Given the description of an element on the screen output the (x, y) to click on. 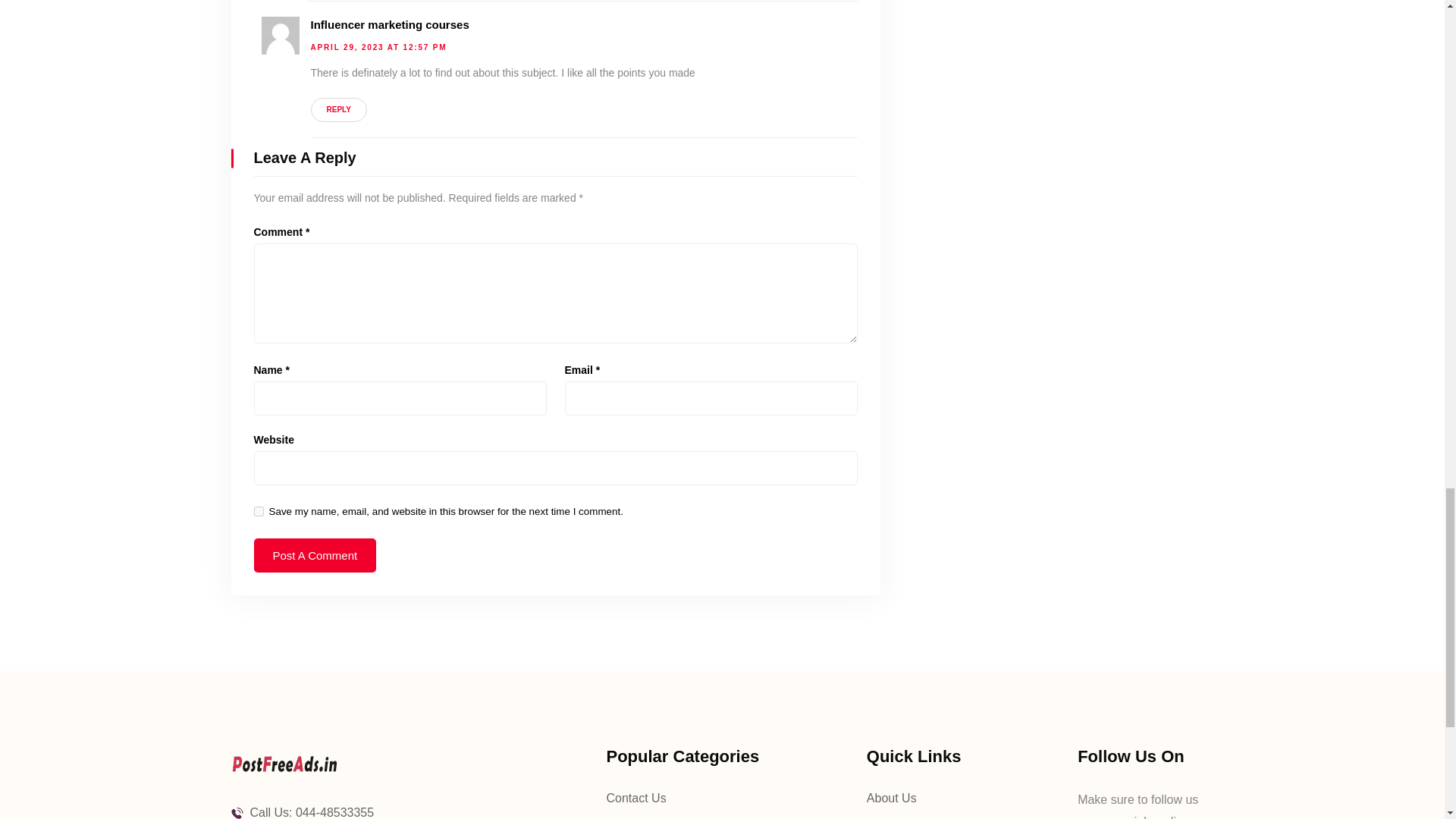
Post a Comment (314, 555)
APRIL 29, 2023 AT 12:57 PM (378, 47)
Influencer marketing courses (389, 25)
yes (258, 511)
